Given the description of an element on the screen output the (x, y) to click on. 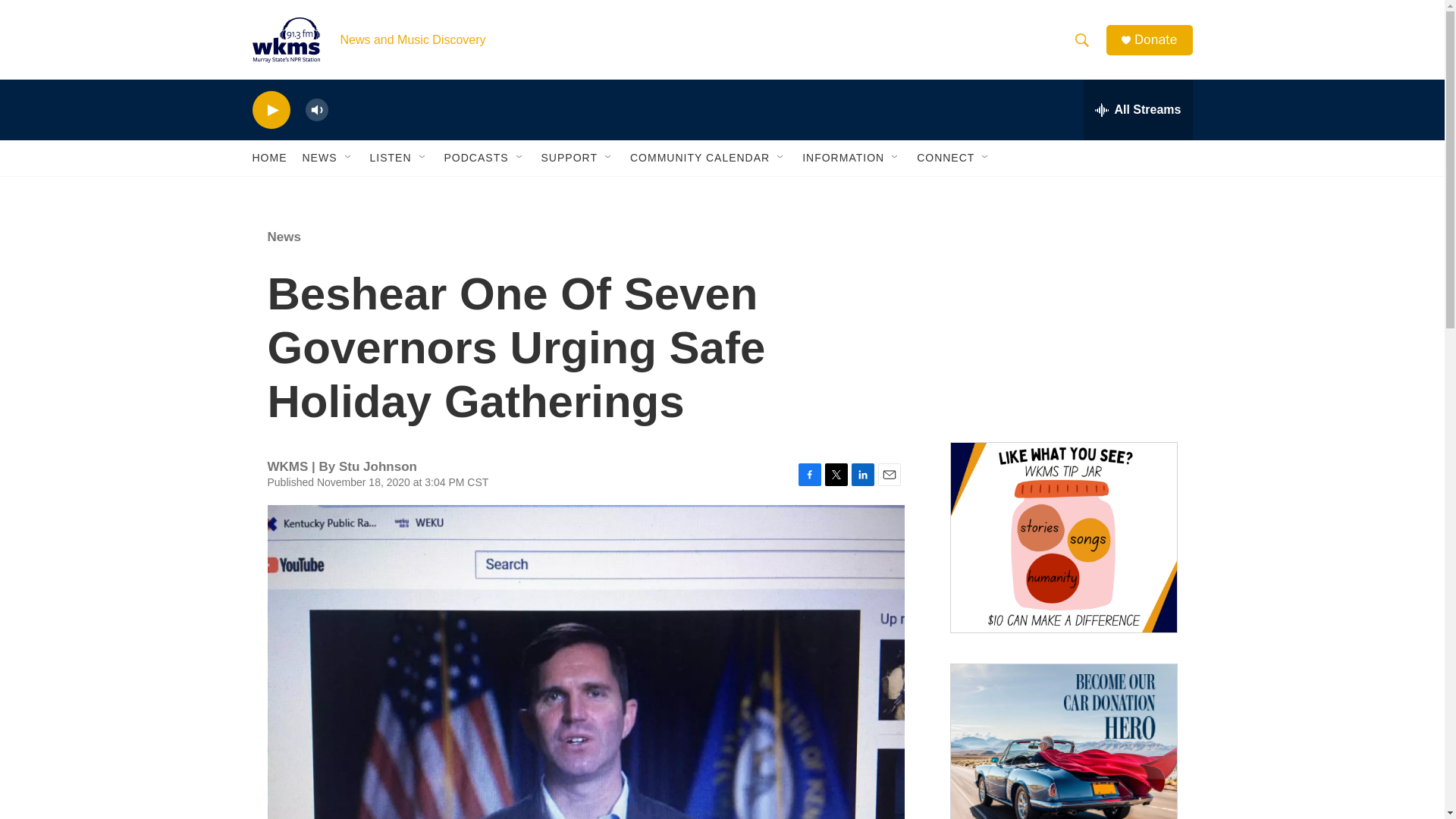
3rd party ad content (1062, 316)
